Given the description of an element on the screen output the (x, y) to click on. 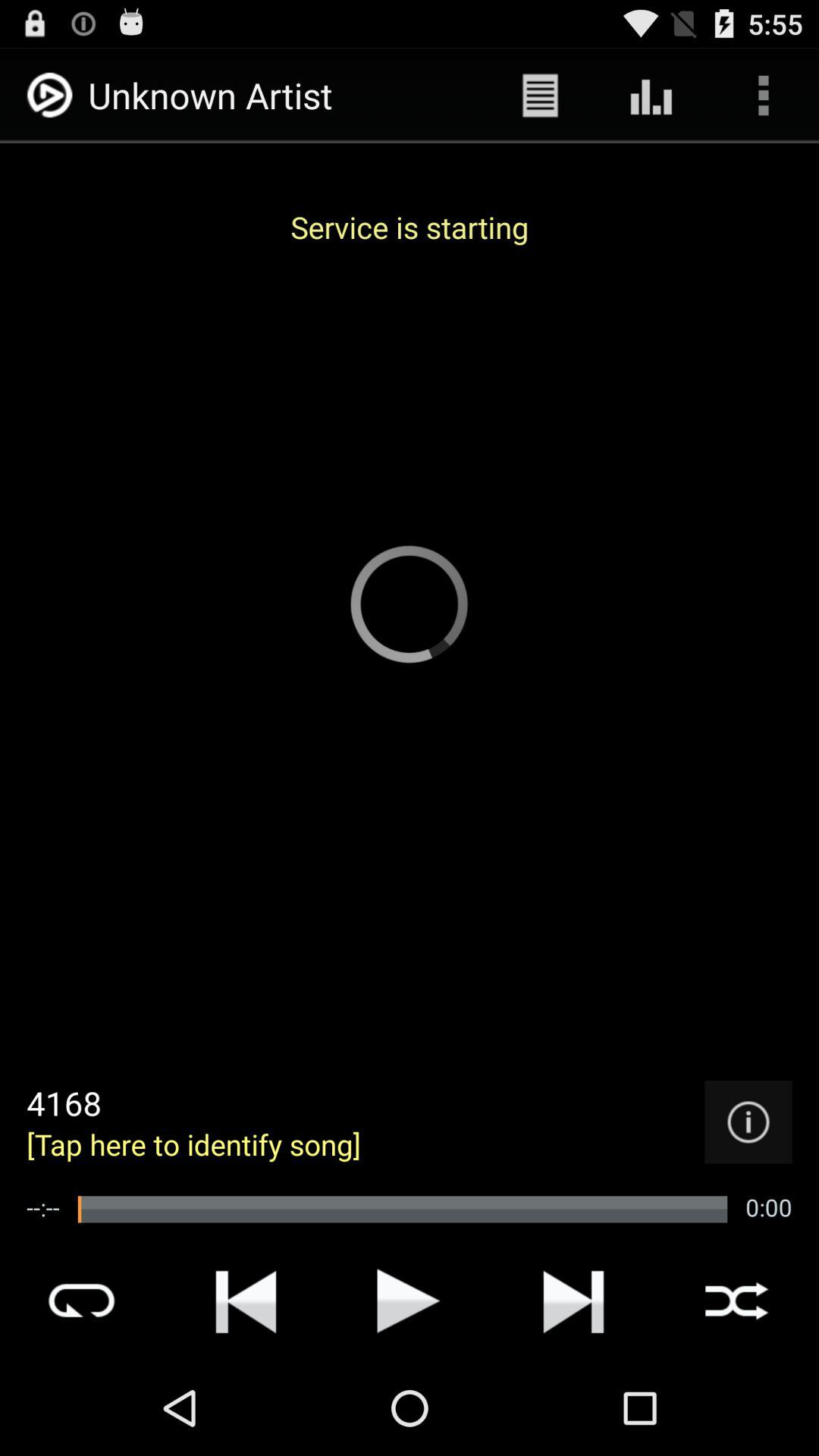
move forward option (573, 1300)
